Given the description of an element on the screen output the (x, y) to click on. 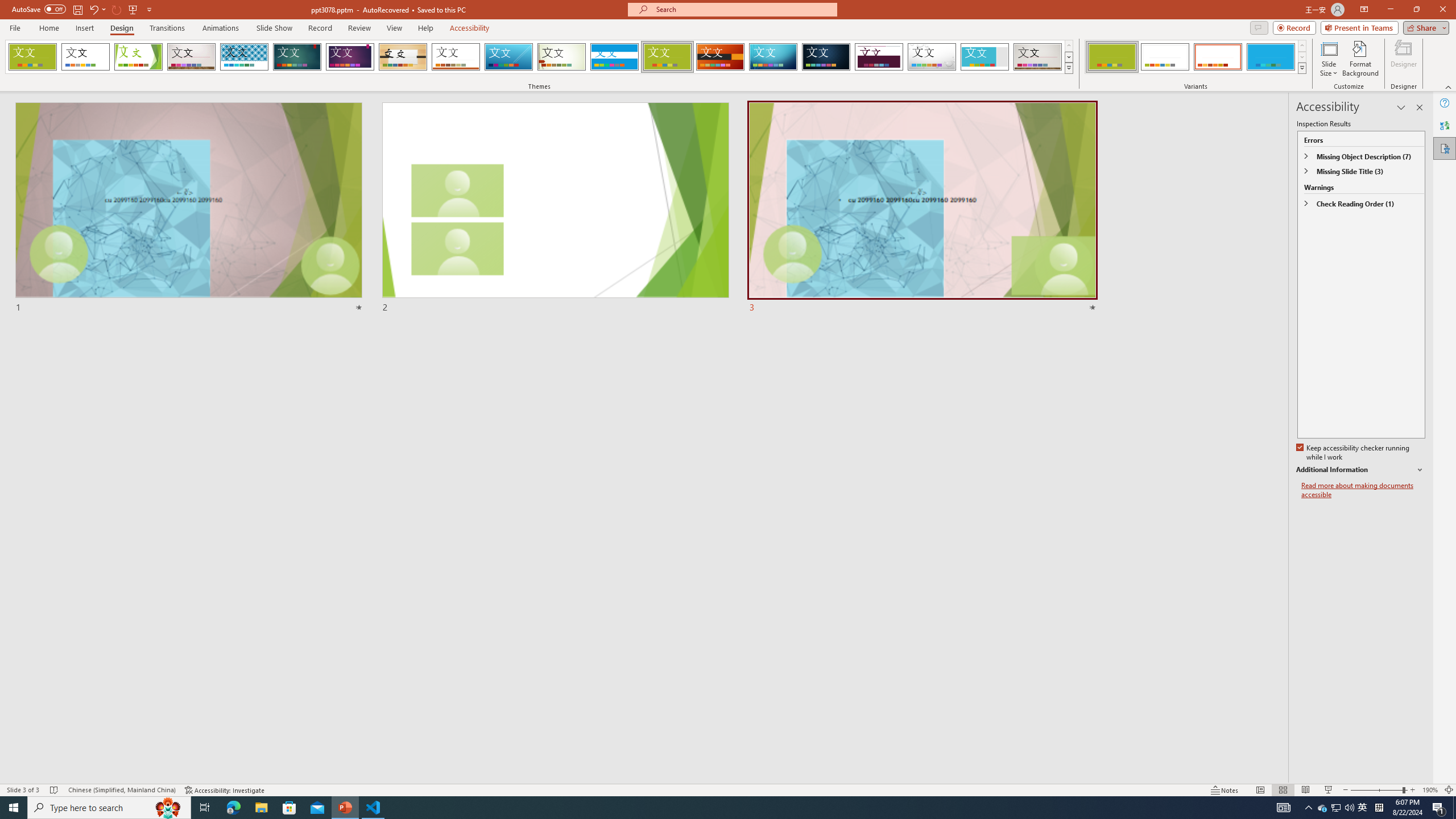
Frame (984, 56)
Wisp (561, 56)
Basis Variant 4 (1270, 56)
Dividend (879, 56)
AutomationID: SlideThemesGallery (539, 56)
Additional Information (1360, 469)
